Given the description of an element on the screen output the (x, y) to click on. 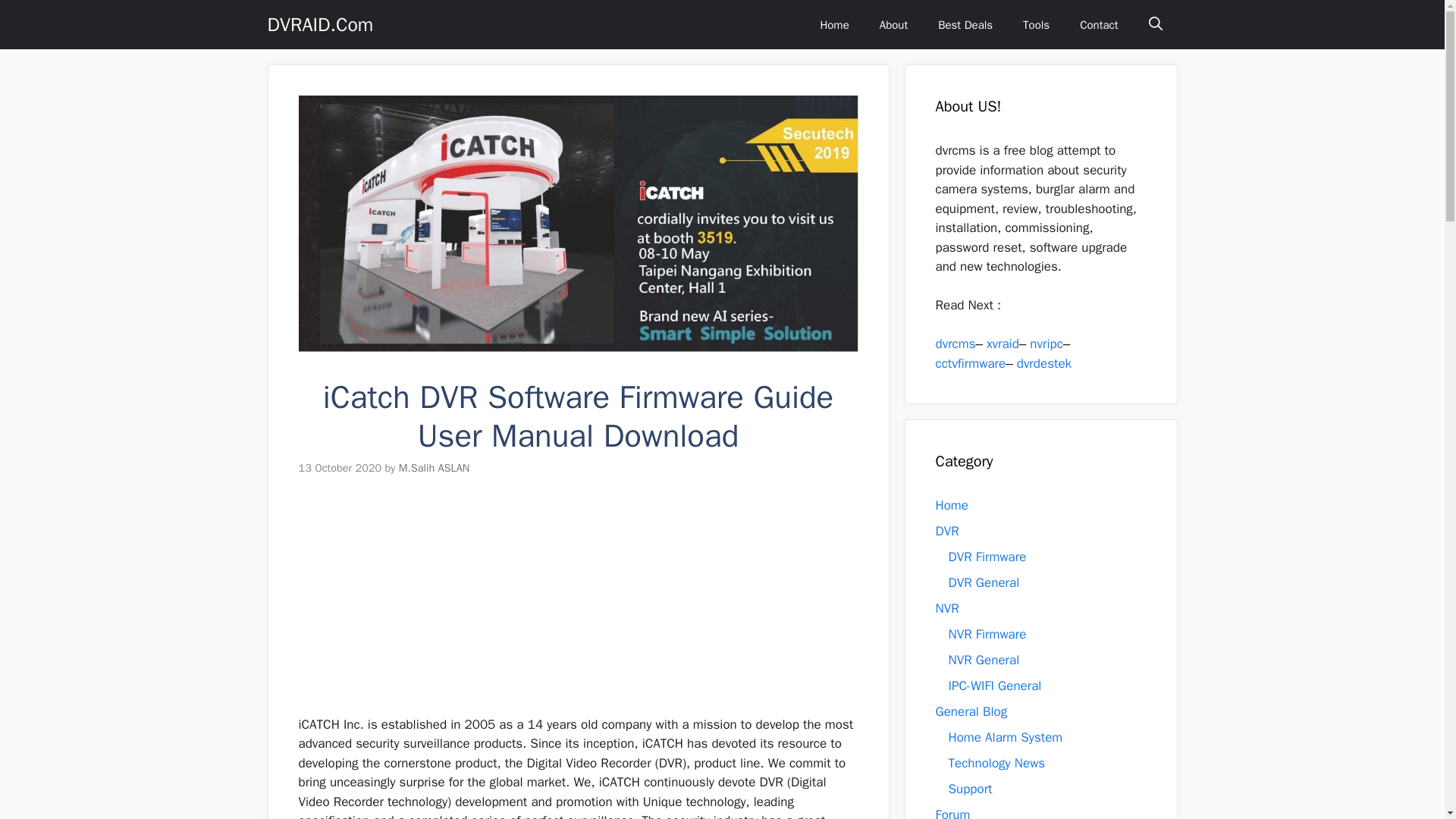
dvrdestek.com (1043, 362)
M.Salih ASLAN (434, 468)
Tools (1035, 23)
View all posts by M.Salih ASLAN (434, 468)
Home (834, 23)
Contact (1098, 23)
Best Deals (965, 23)
About (893, 23)
Advertisement (570, 608)
DVRAID.Com (319, 24)
cctvfirmware.com (971, 362)
